Given the description of an element on the screen output the (x, y) to click on. 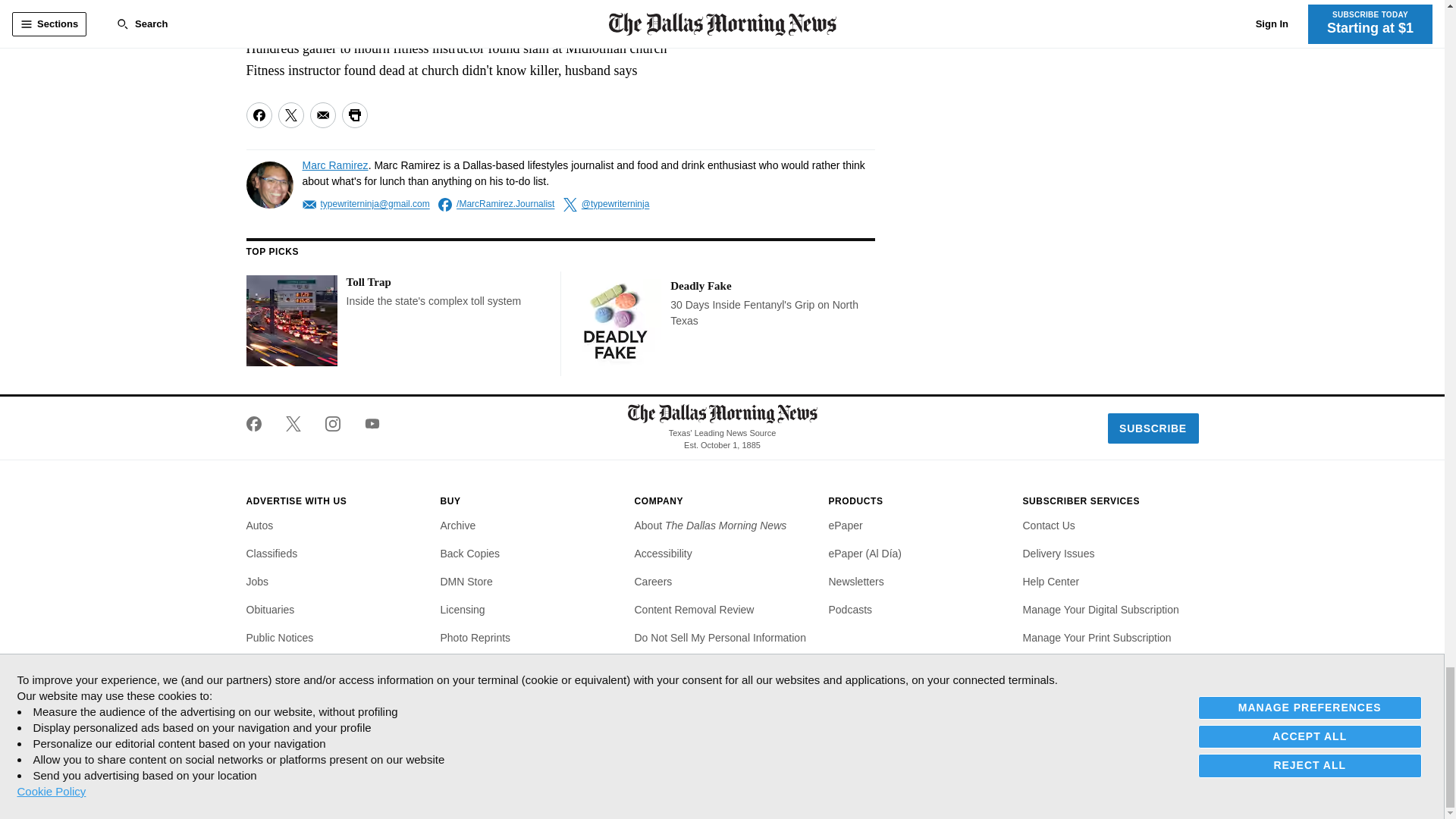
Print (353, 114)
Share on Twitter (290, 114)
The Dallas Morning News on Twitter (293, 423)
The Dallas Morning News on Facebook (259, 423)
Share via Email (321, 114)
Share on Facebook (258, 114)
